Given the description of an element on the screen output the (x, y) to click on. 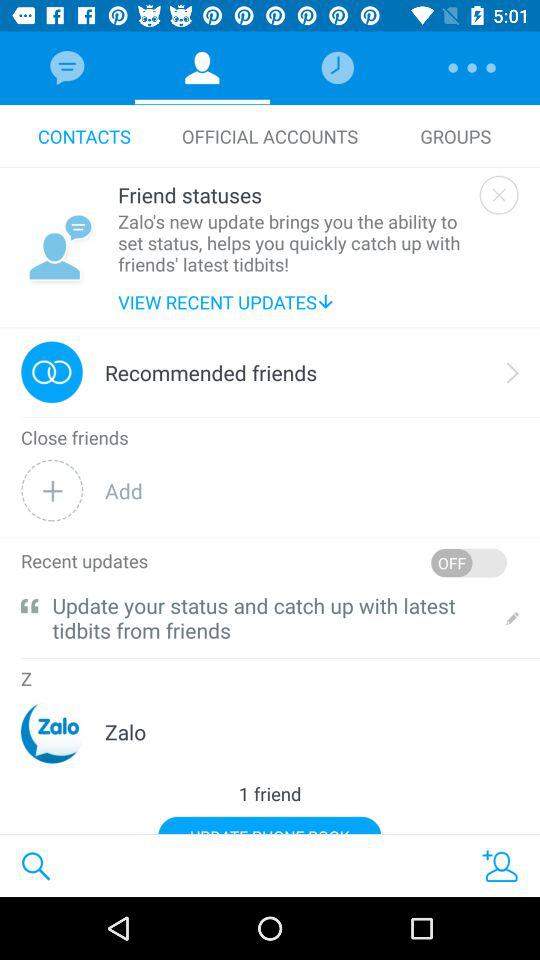
turn on icon next to recent updates (468, 562)
